Given the description of an element on the screen output the (x, y) to click on. 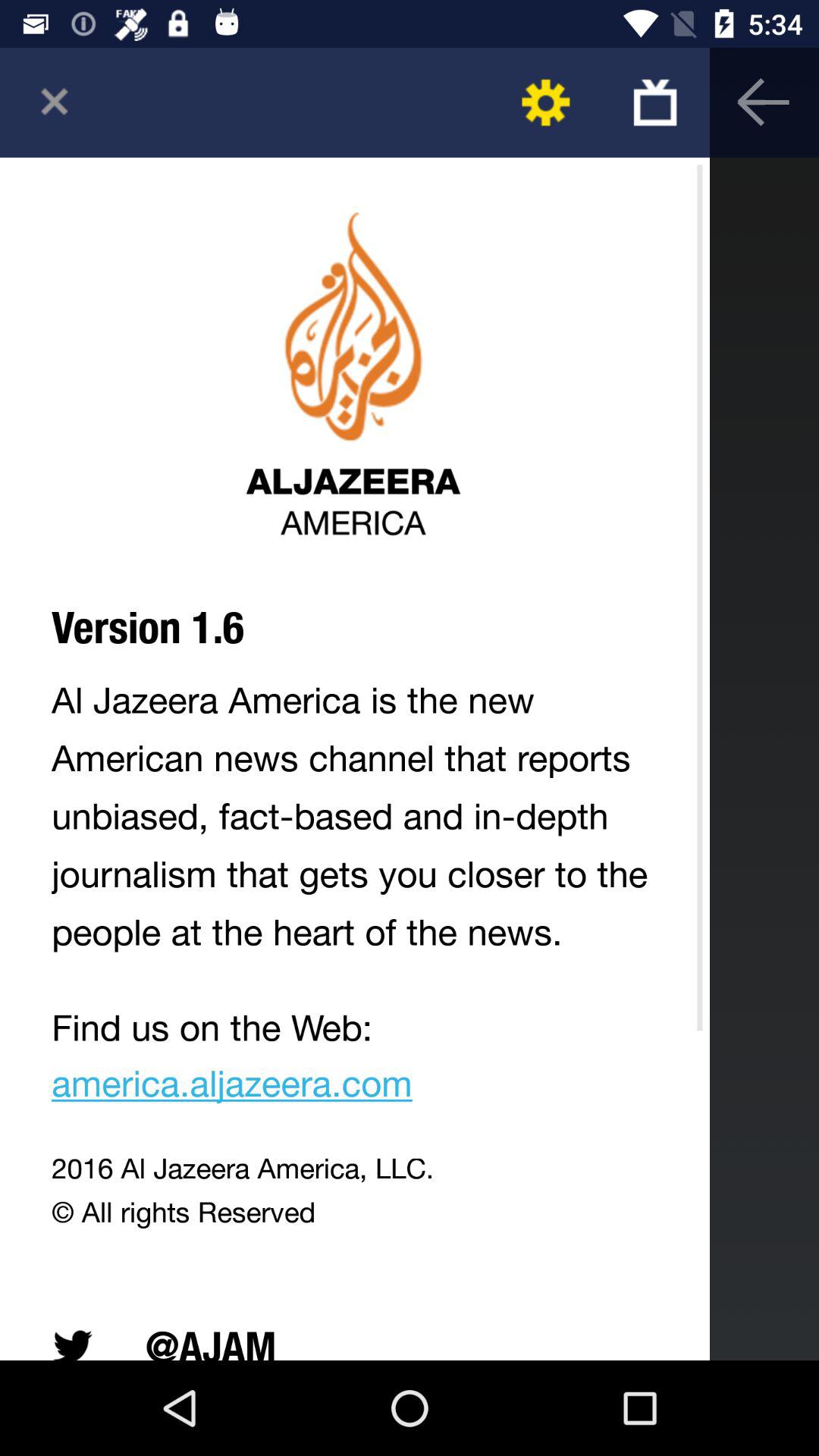
tap the icon above 2016 al jazeera (354, 1060)
